Given the description of an element on the screen output the (x, y) to click on. 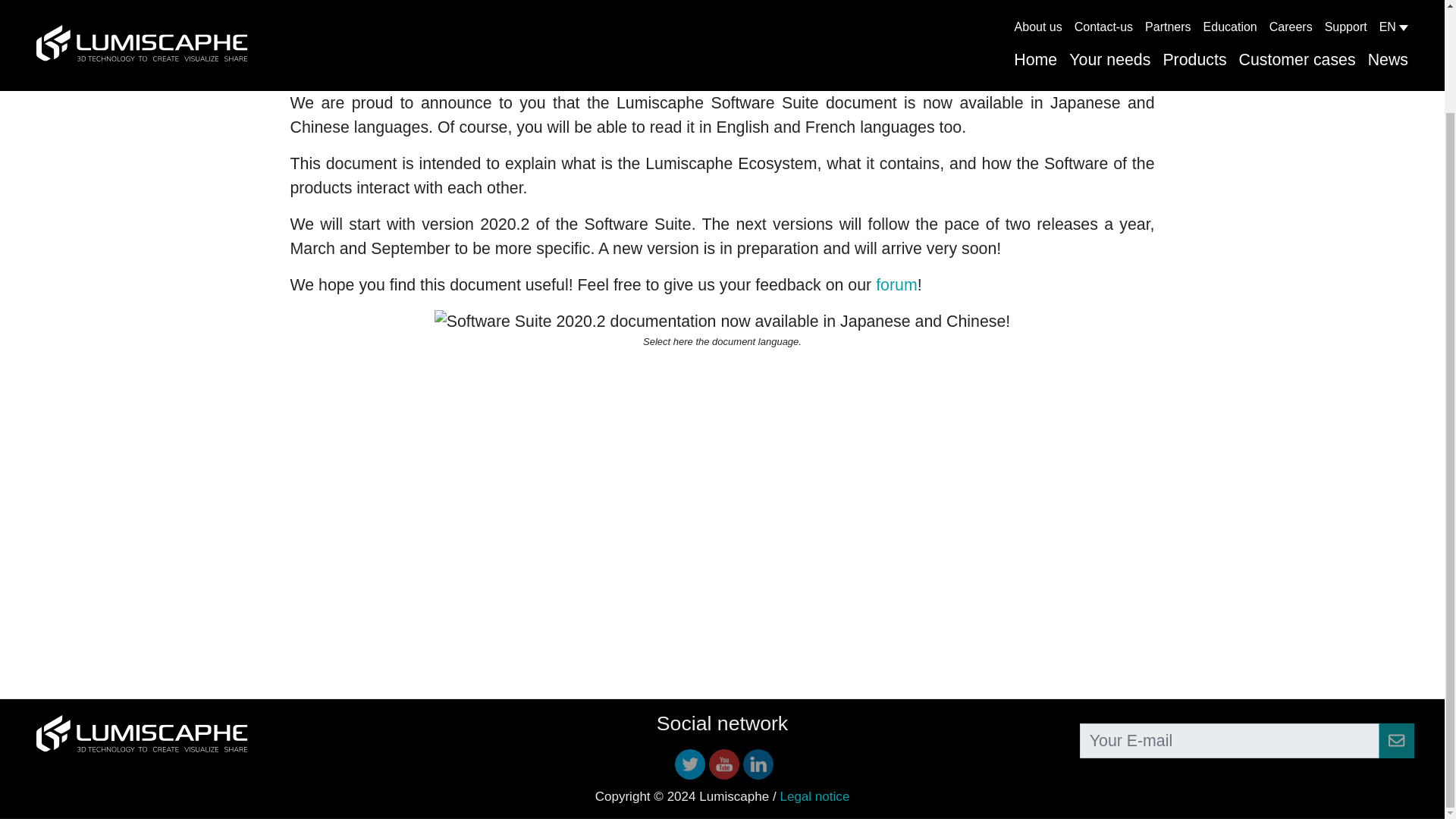
LinkedIn (758, 764)
forum (896, 285)
Twitter (689, 764)
Legal notice (813, 796)
YouTube (724, 764)
